Given the description of an element on the screen output the (x, y) to click on. 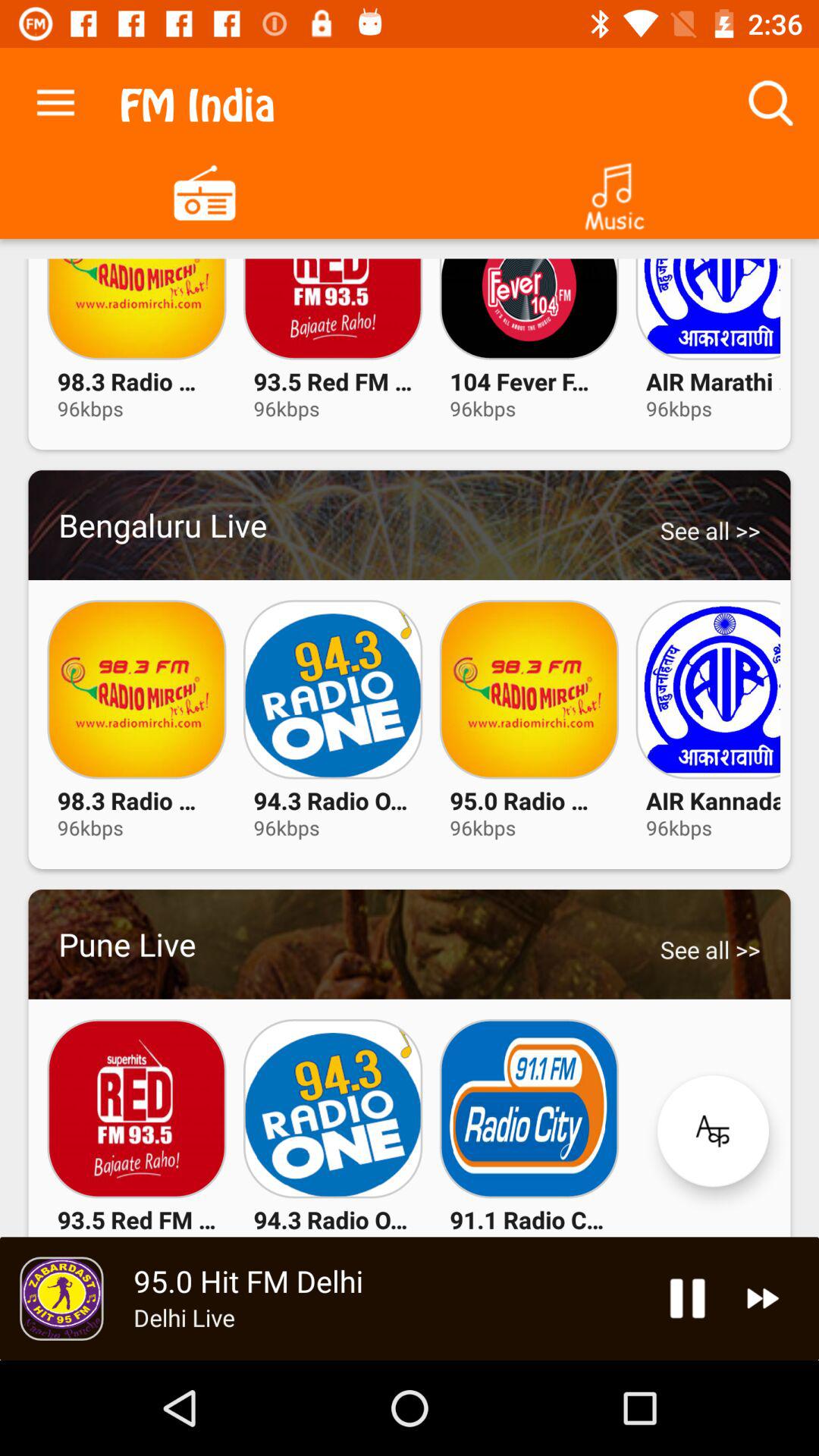
pause audio (687, 1298)
